Given the description of an element on the screen output the (x, y) to click on. 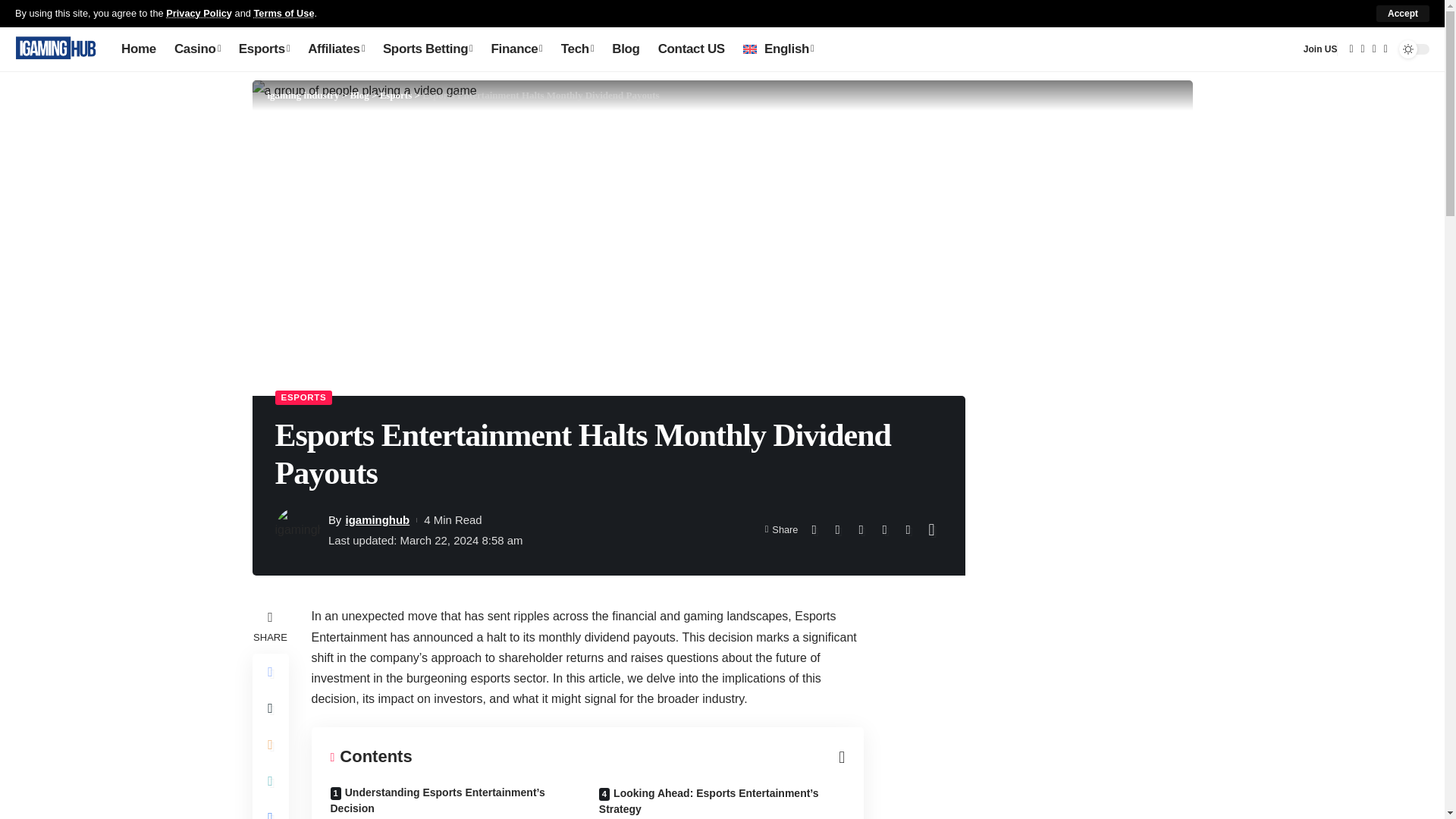
Terms of Use (283, 12)
Privacy Policy (198, 12)
Esports (264, 49)
Join US (1320, 49)
Home (138, 49)
Affiliates (336, 49)
Accept (1402, 13)
Casino (197, 49)
